Given the description of an element on the screen output the (x, y) to click on. 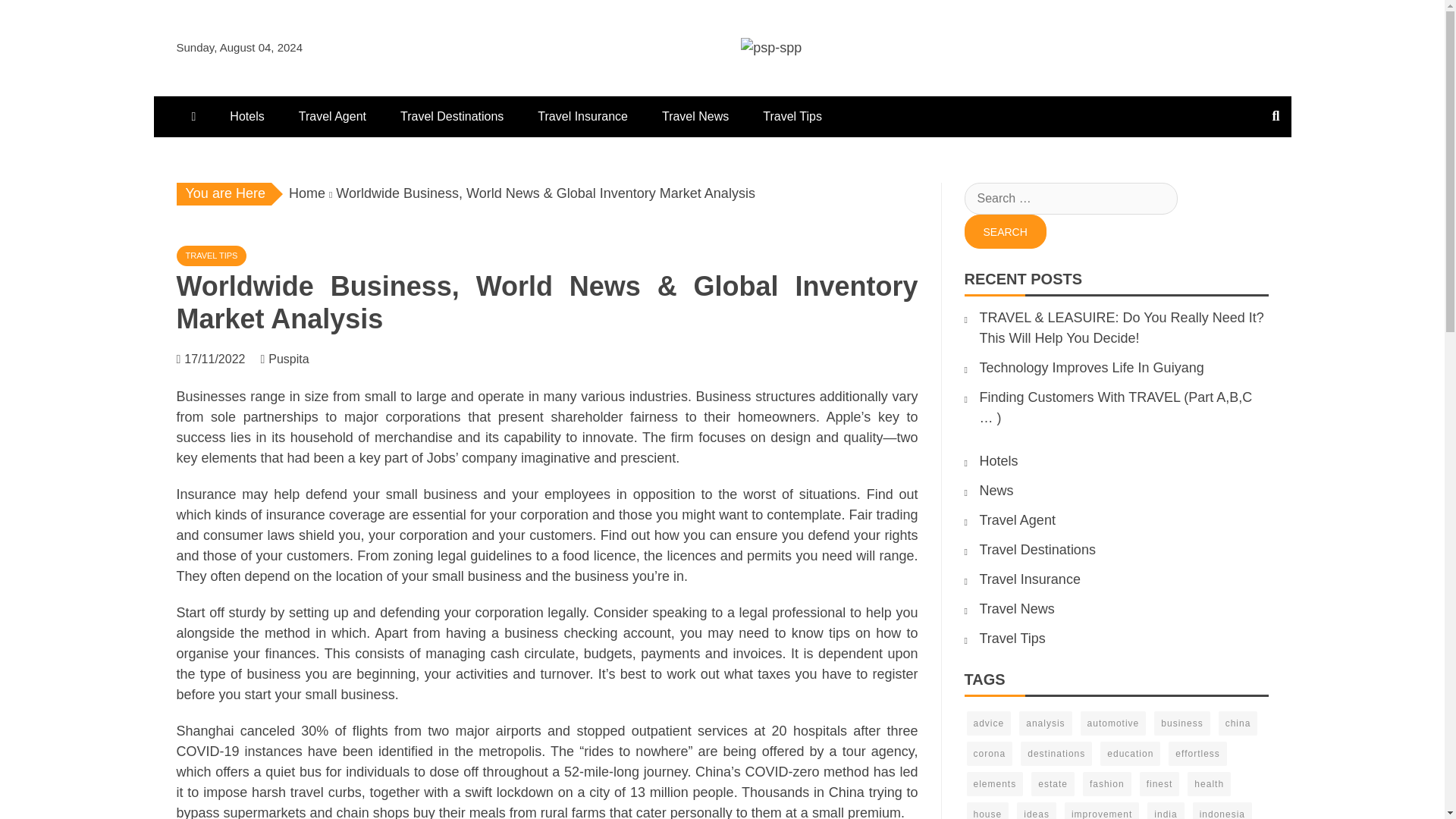
psp-spp (647, 79)
Travel Destinations (451, 116)
Travel Insurance (582, 116)
Search (1004, 231)
Search (1004, 231)
Puspita (295, 358)
Travel News (695, 116)
Hotels (246, 116)
Travel Tips (792, 116)
Search (1004, 231)
TRAVEL TIPS (211, 255)
Home (306, 192)
Travel Agent (332, 116)
